Given the description of an element on the screen output the (x, y) to click on. 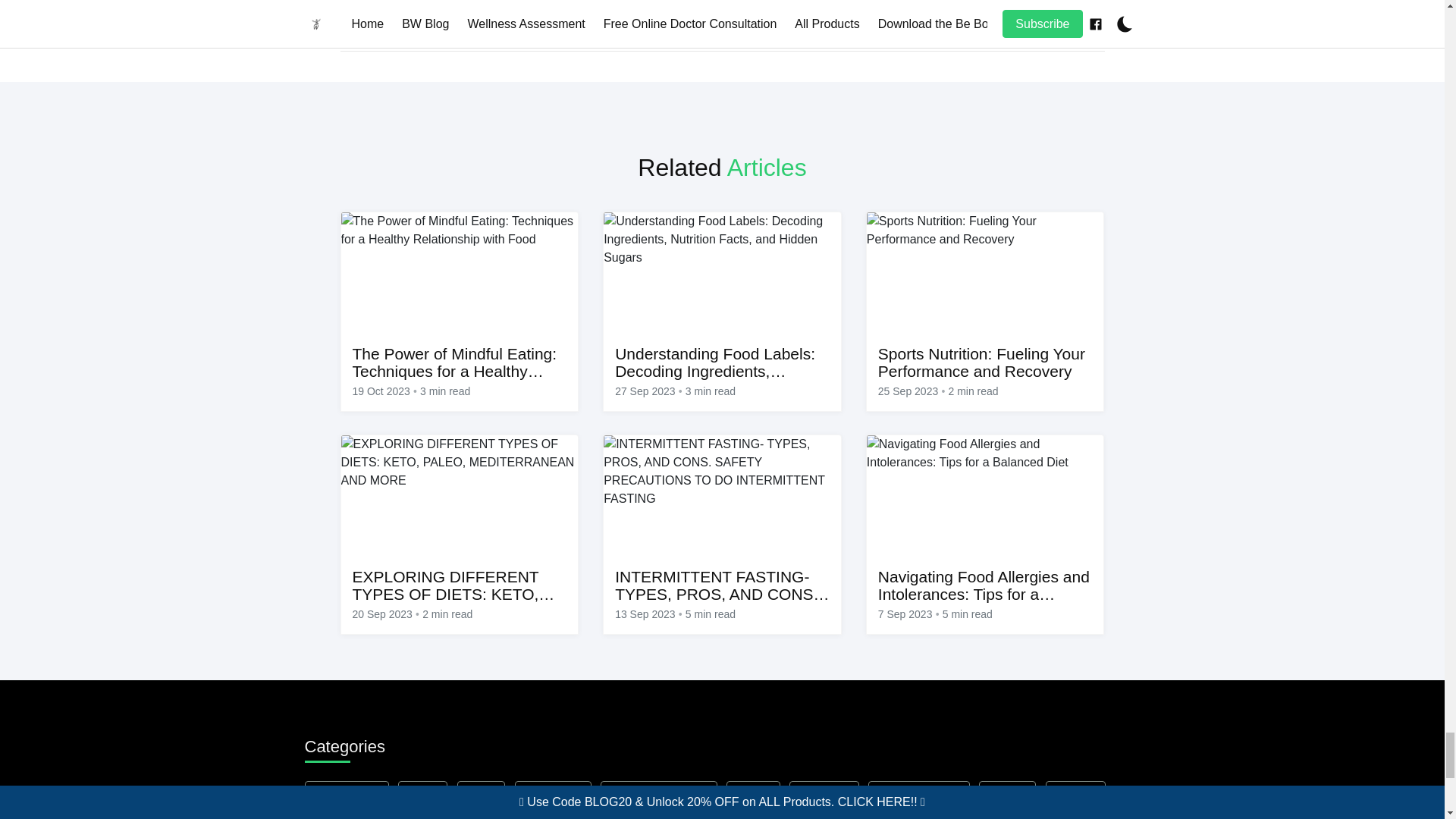
3 min read (445, 391)
2 min read (972, 391)
5 min read (967, 614)
3 min read (710, 391)
5 min read (710, 614)
2 min read (446, 614)
